Given the description of an element on the screen output the (x, y) to click on. 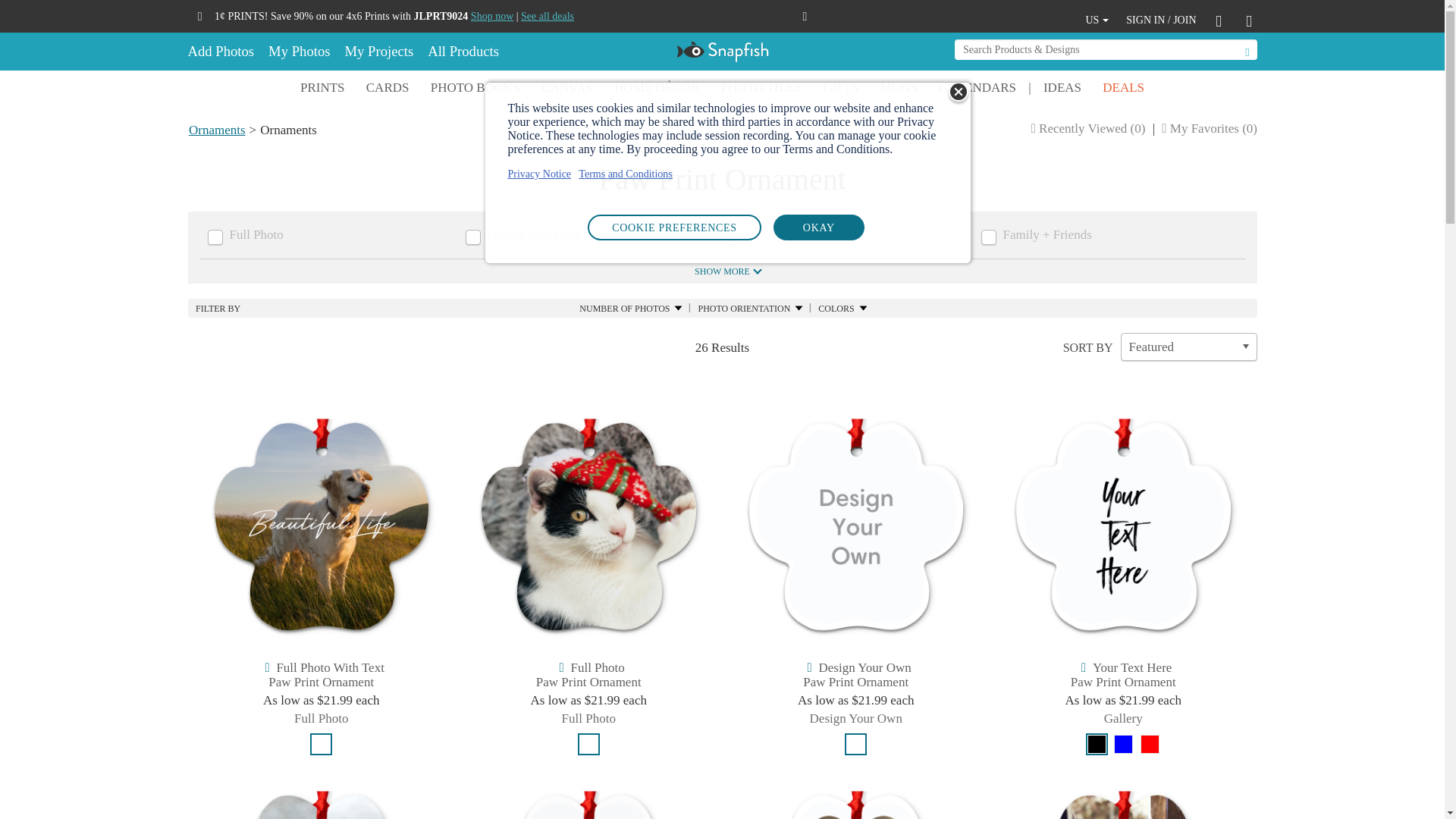
All Products (462, 51)
My Photos (298, 51)
US (1097, 20)
My Projects (378, 51)
Add Photos (223, 51)
PRINTS (322, 88)
Shop now (491, 16)
See all deals (547, 16)
